Given the description of an element on the screen output the (x, y) to click on. 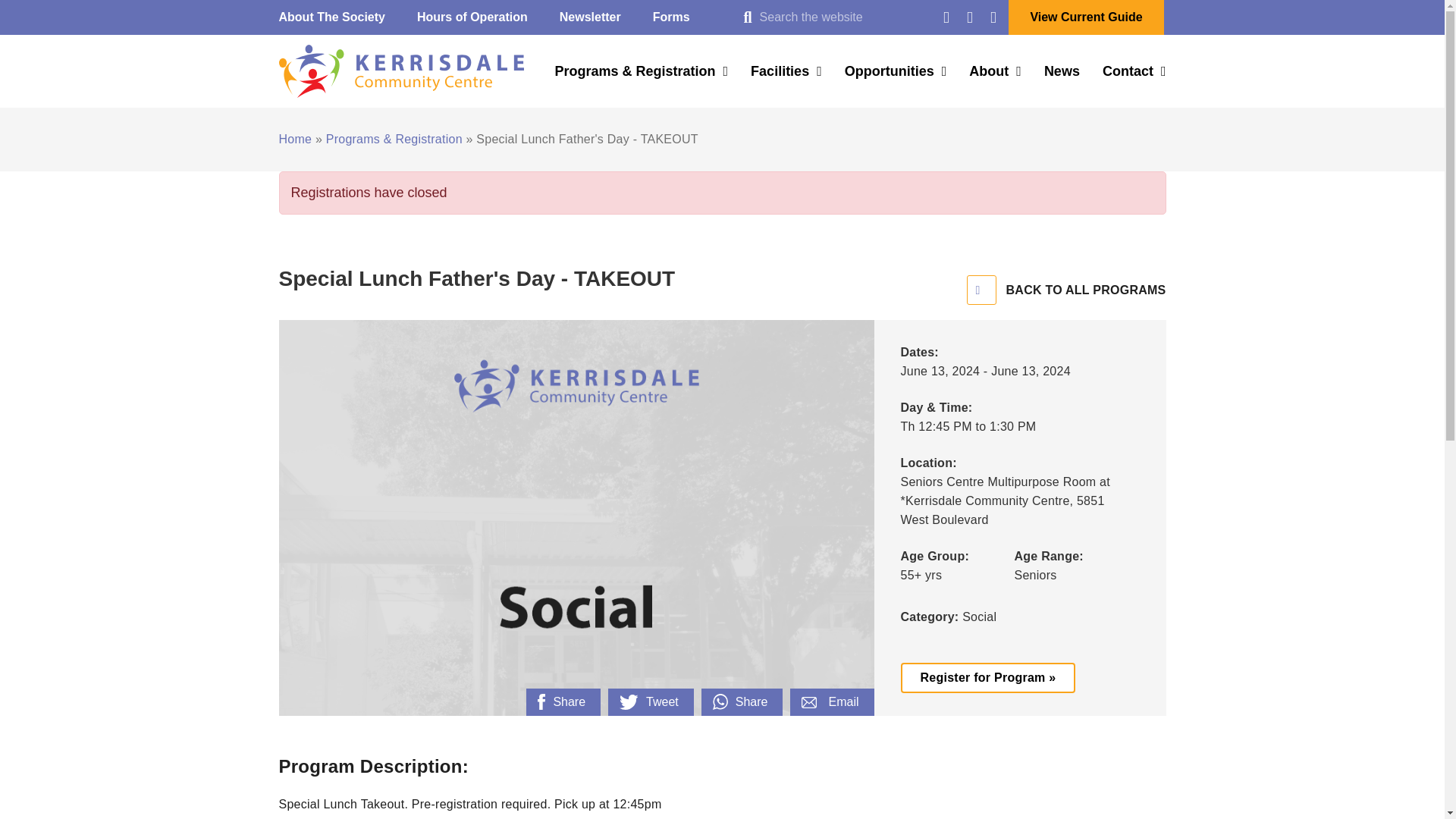
Forms (671, 17)
Hours of Operation (471, 17)
Facilities (786, 71)
Newsletter (590, 17)
View Current Guide (1086, 17)
About The Society (332, 17)
